Given the description of an element on the screen output the (x, y) to click on. 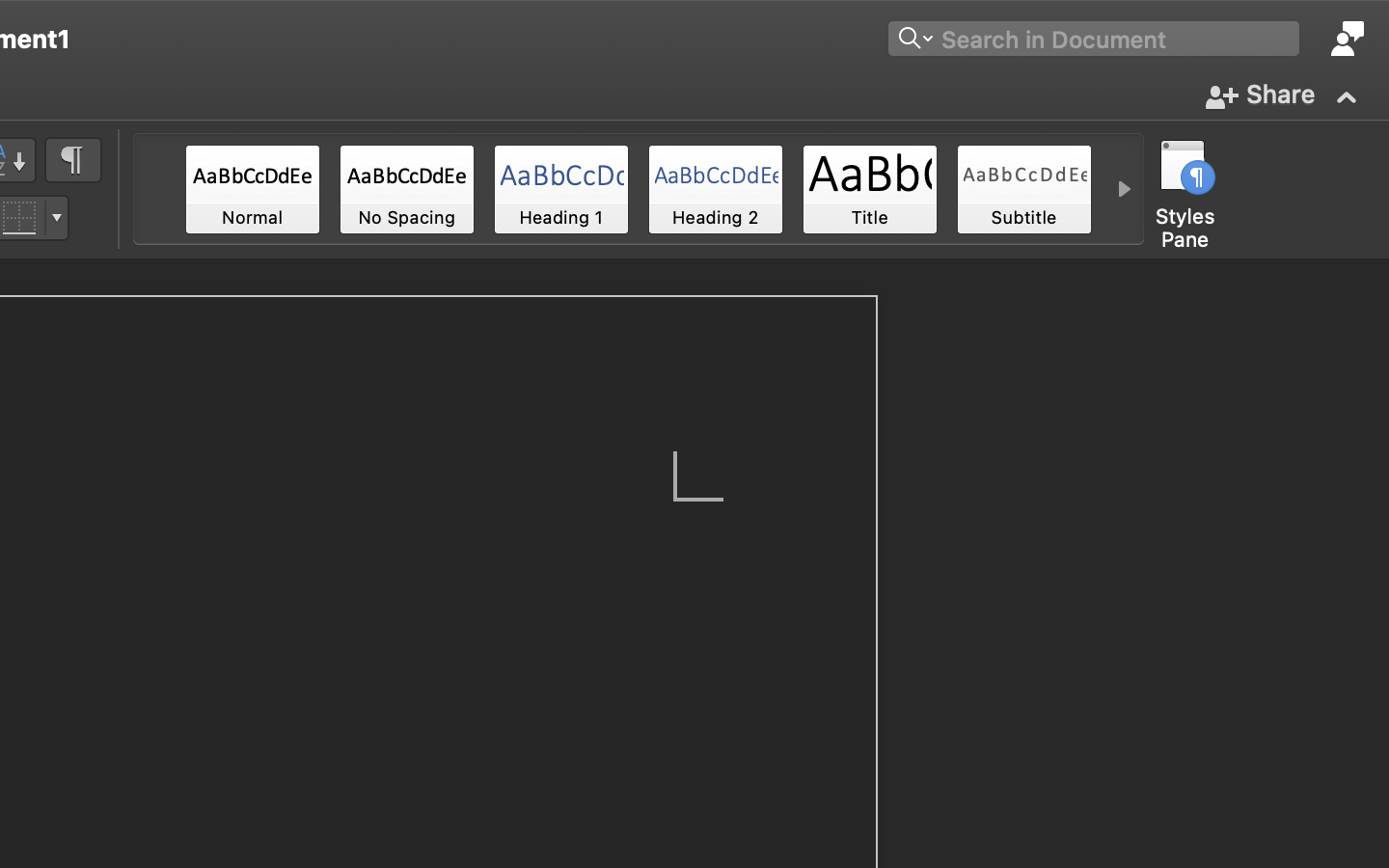
0 Element type: AXRadioButton (252, 188)
